Given the description of an element on the screen output the (x, y) to click on. 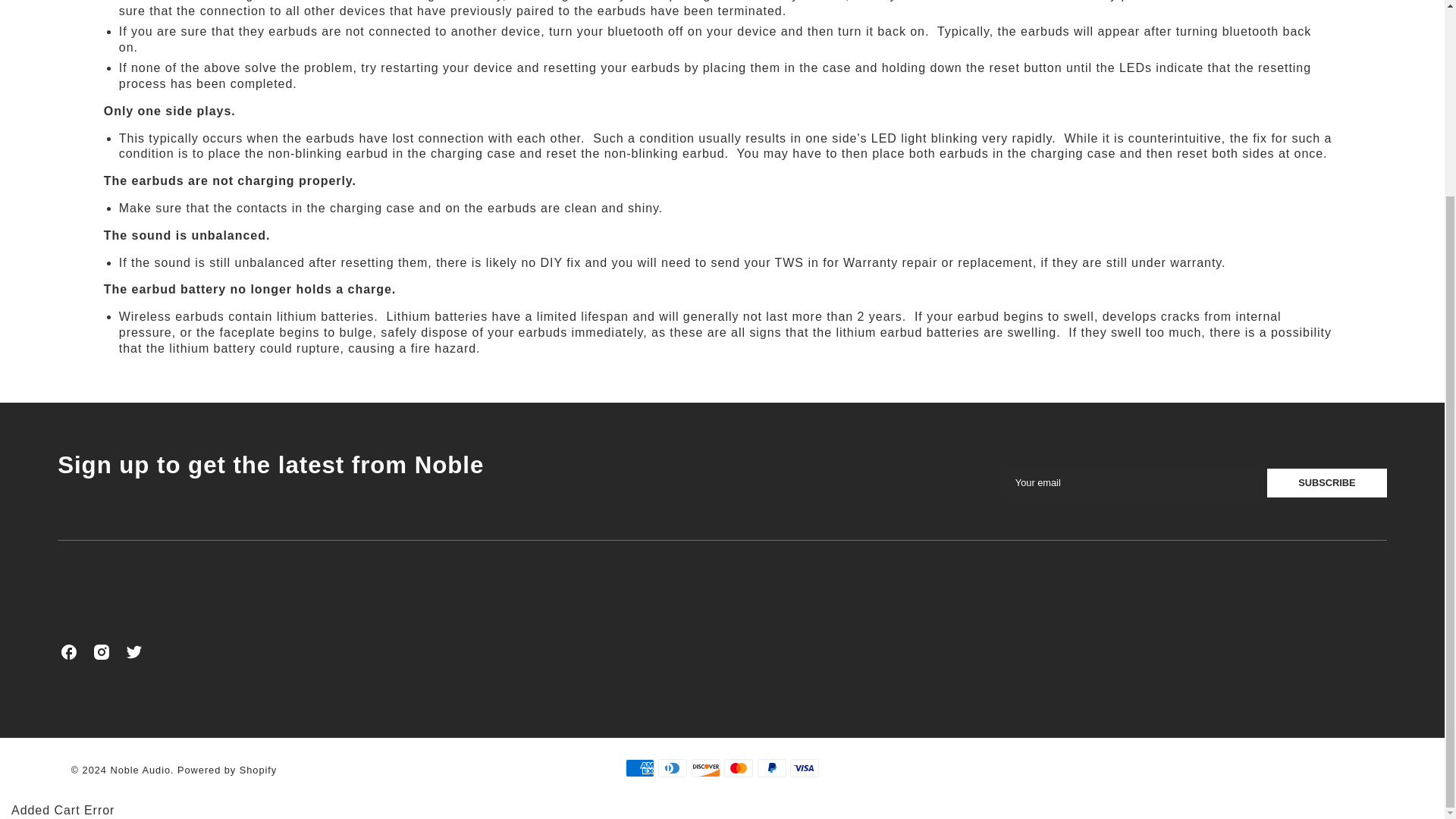
PayPal (771, 768)
Visa (804, 768)
American Express (639, 768)
Discover (705, 768)
Mastercard (737, 768)
Diners Club (672, 768)
